Given the description of an element on the screen output the (x, y) to click on. 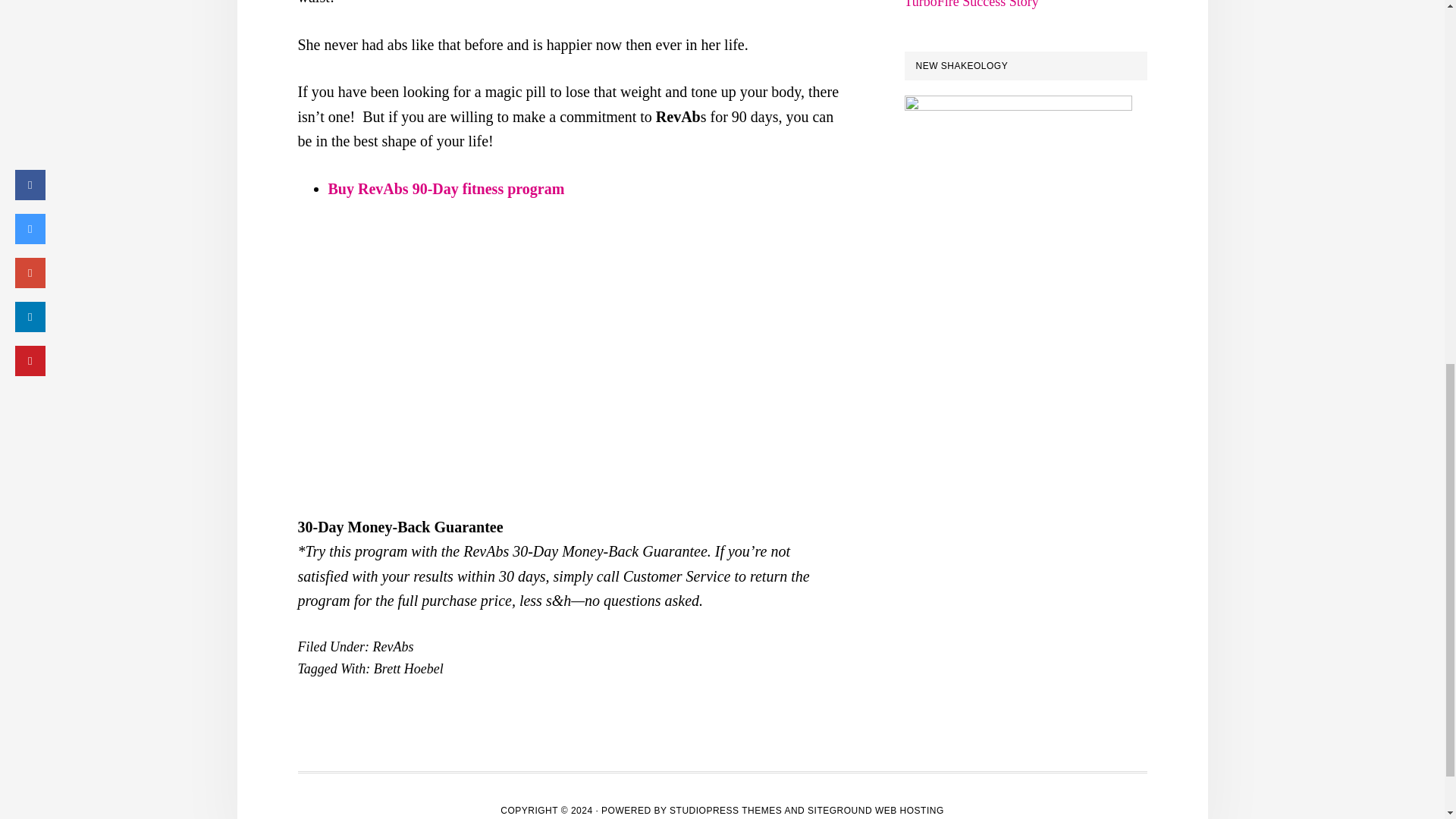
TurboFire Success Story (971, 4)
SITEGROUND WEB HOSTING (875, 810)
Brett Hoebel (409, 668)
Buy RevAbs 90-Day fitness program (445, 188)
STUDIOPRESS THEMES (725, 810)
RevAbs (392, 646)
